Given the description of an element on the screen output the (x, y) to click on. 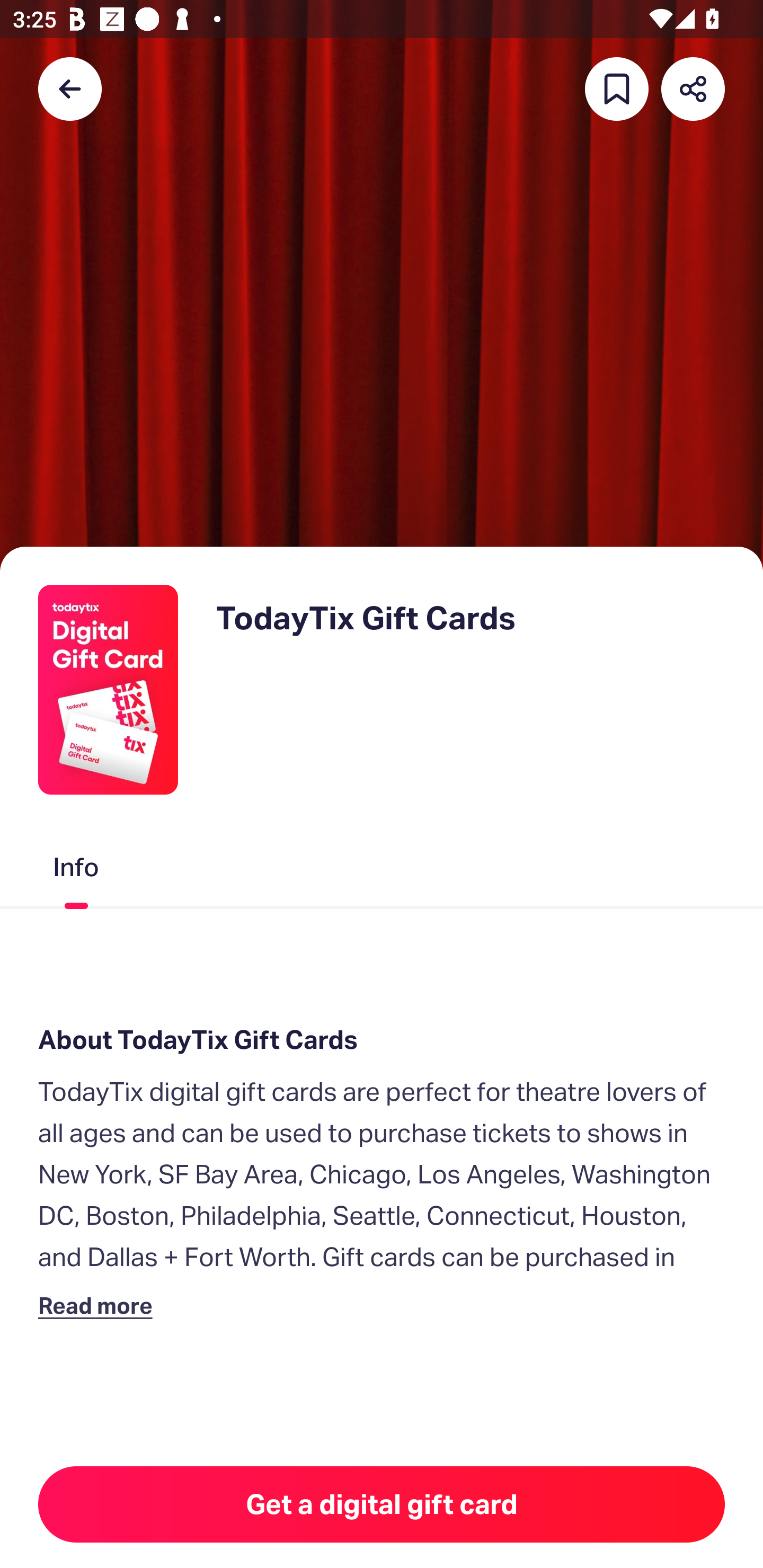
About TodayTix Gift Cards (381, 1039)
Read more (99, 1305)
Get a digital gift card (381, 1504)
